Given the description of an element on the screen output the (x, y) to click on. 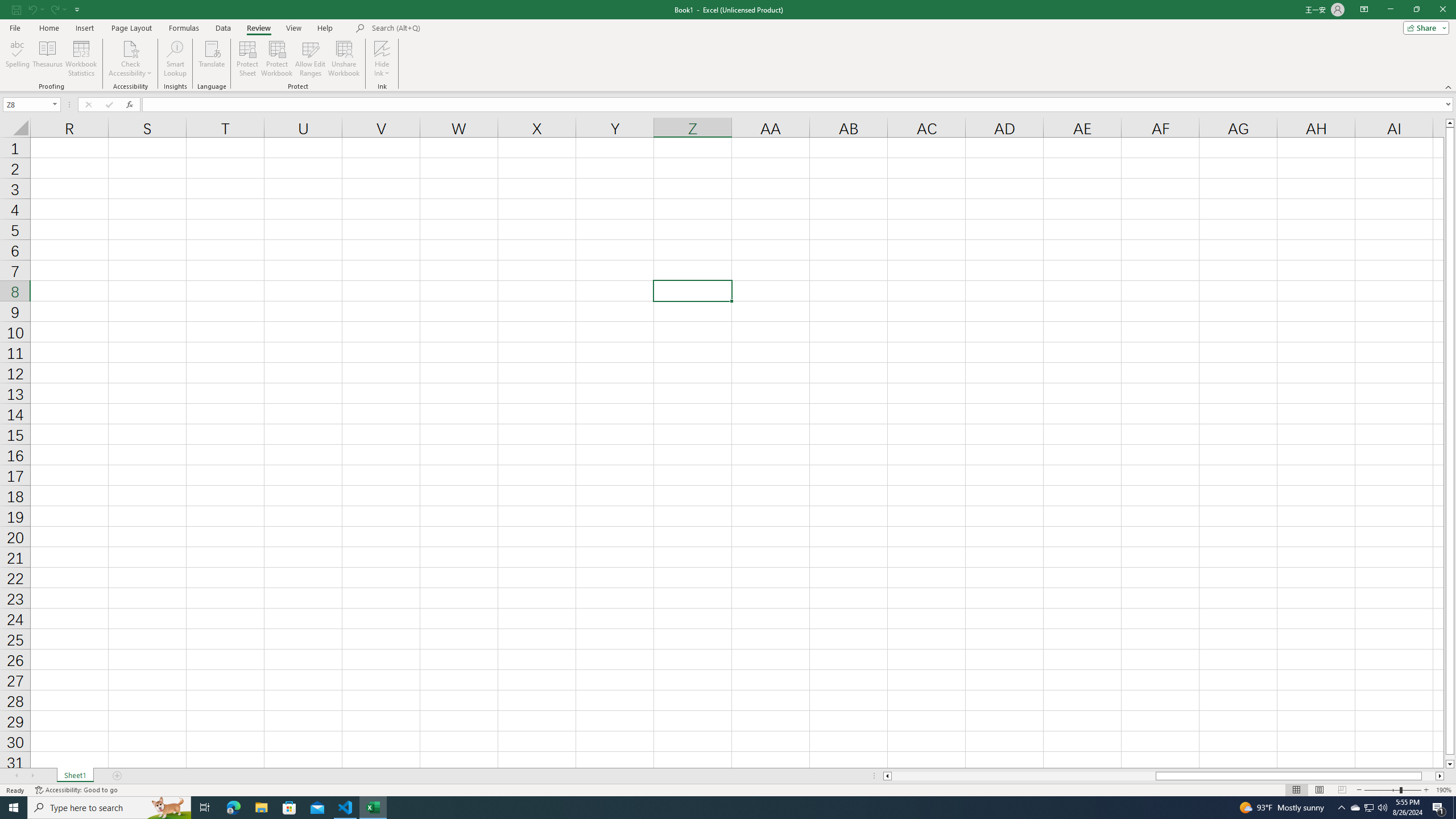
Thesaurus... (47, 58)
Allow Edit Ranges (310, 58)
